Given the description of an element on the screen output the (x, y) to click on. 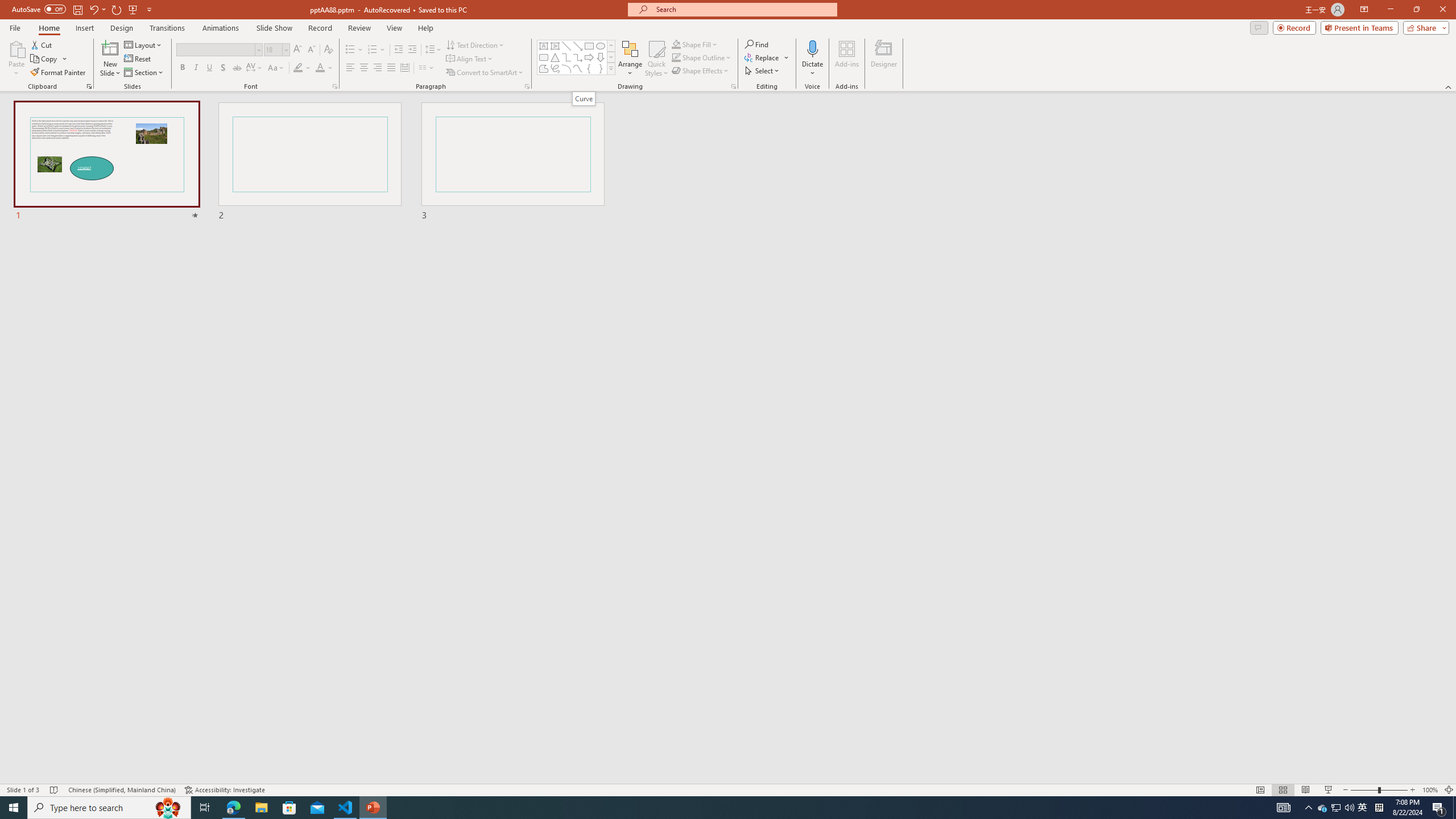
Shape Outline Teal, Accent 1 (675, 56)
